Given the description of an element on the screen output the (x, y) to click on. 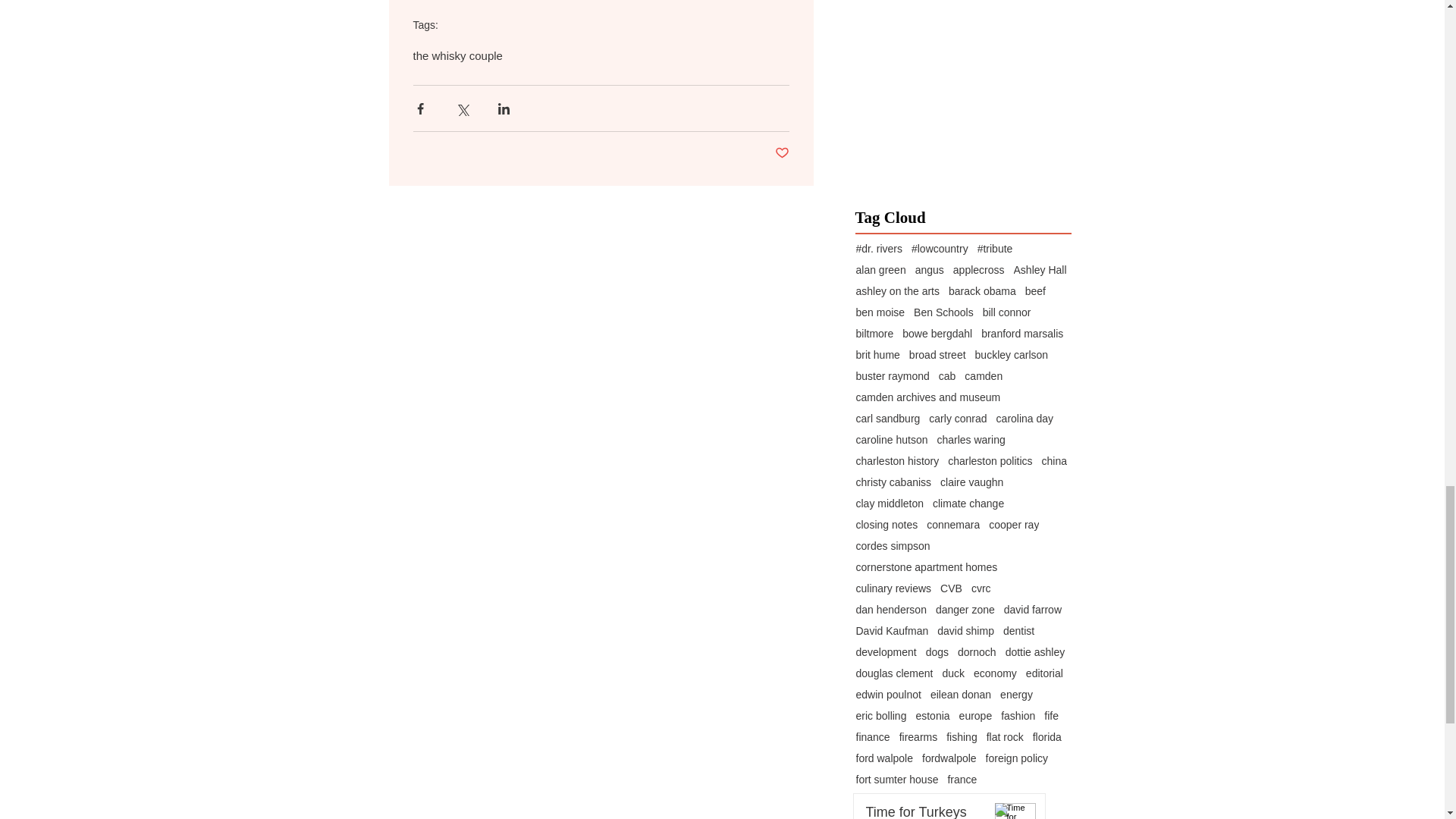
angus (929, 269)
ben moise (880, 312)
ashley on the arts (897, 291)
biltmore (874, 333)
Ben Schools (944, 312)
bill connor (1006, 312)
buster raymond (892, 376)
broad street (937, 354)
branford marsalis (1021, 333)
Post not marked as liked (781, 153)
